Given the description of an element on the screen output the (x, y) to click on. 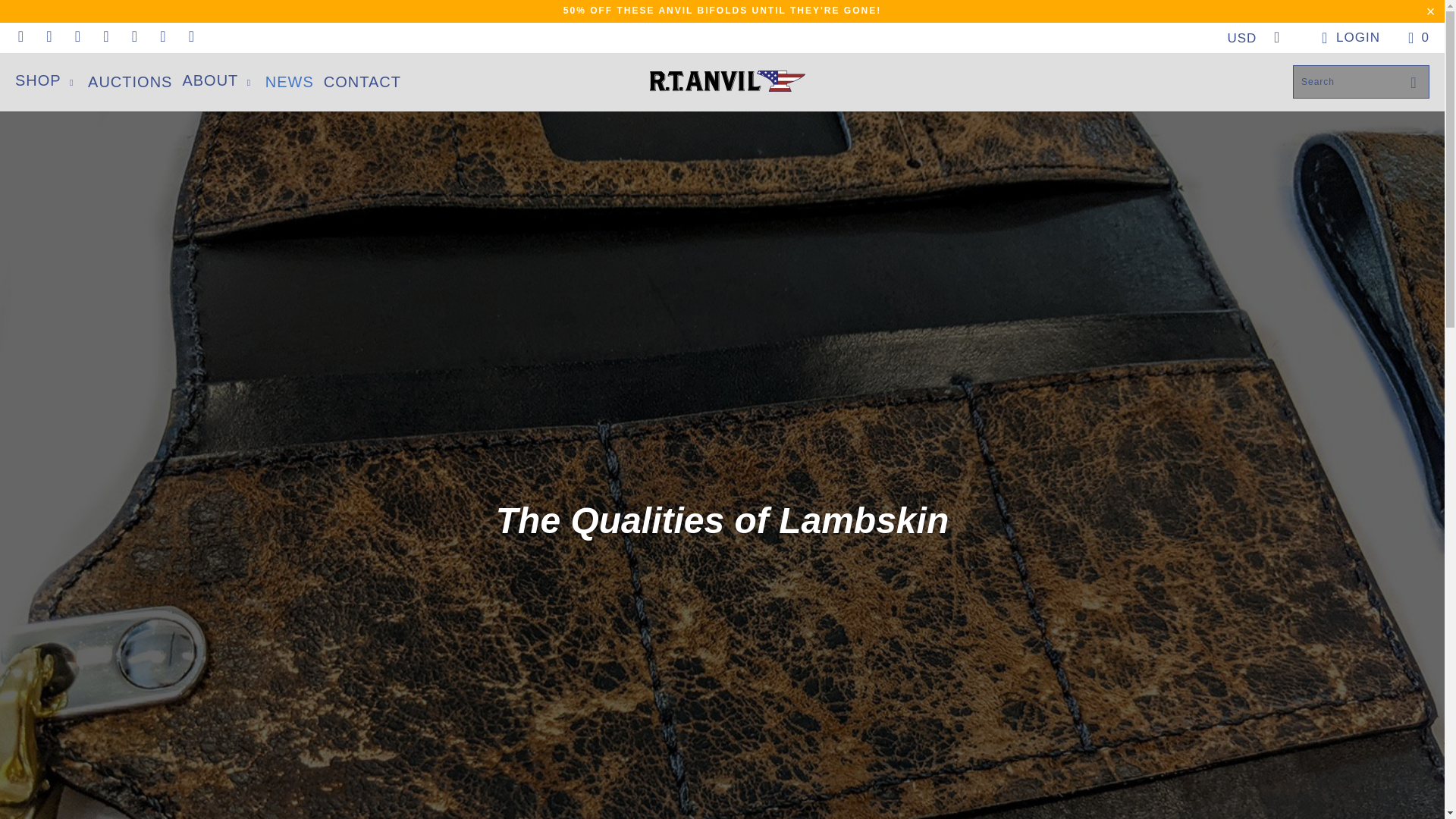
Anvil Customs (727, 82)
Anvil Customs on YouTube (76, 37)
Anvil Customs on Instagram (161, 37)
Anvil Customs on Twitter (20, 37)
Anvil Customs on Facebook (47, 37)
Email Anvil Customs (190, 37)
Anvil Customs on Tumblr (133, 37)
My Account  (1347, 38)
Anvil Customs on Pinterest (106, 37)
